Given the description of an element on the screen output the (x, y) to click on. 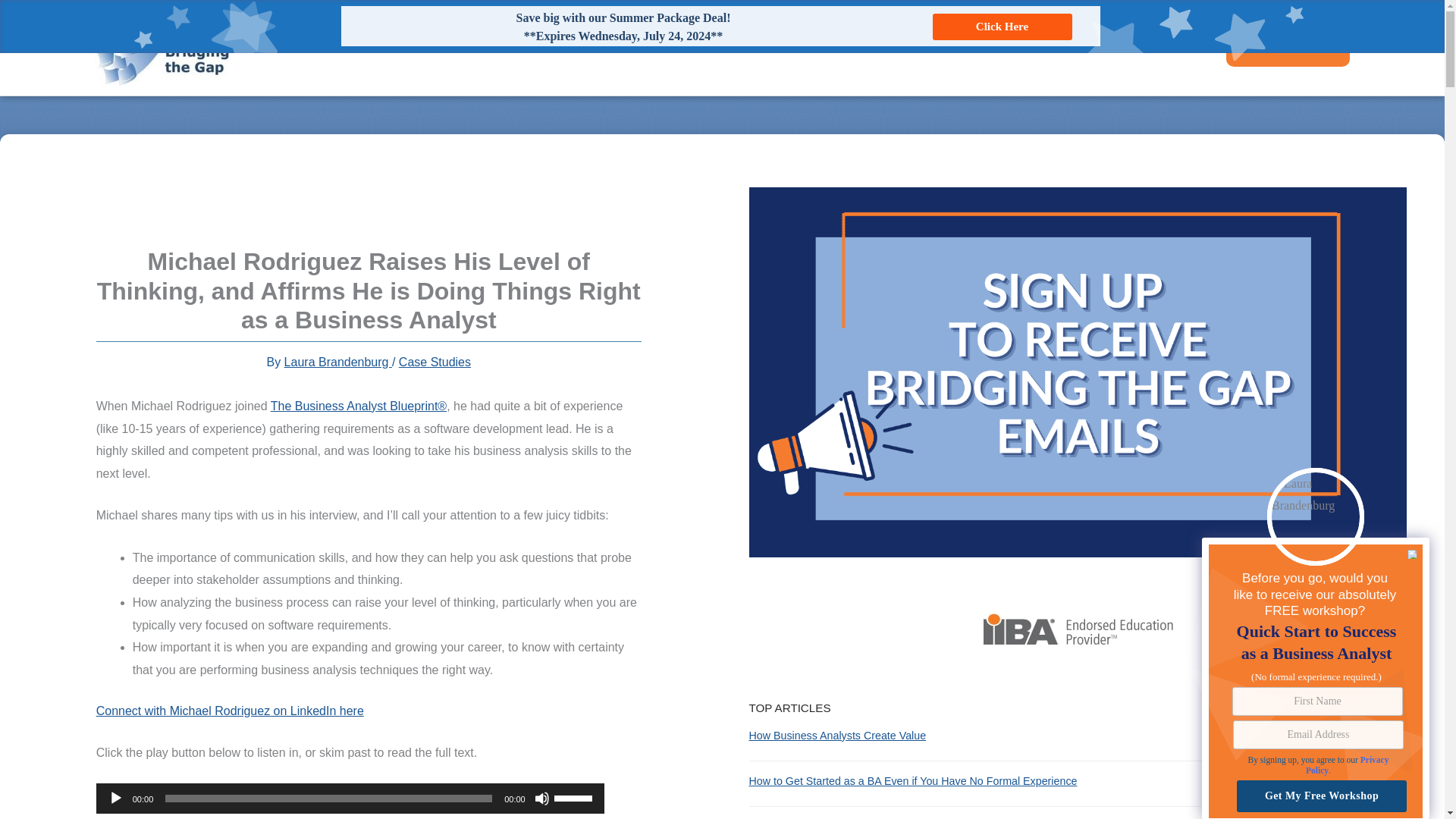
View all posts by Laura Brandenburg (337, 361)
GET THE BOOK (991, 47)
TAKE A COURSE (1287, 47)
Play (115, 798)
Laura Brandenburg (337, 361)
Connect with Michael Rodriguez on LinkedIn here (230, 710)
Case Studies (434, 361)
BLOG (1074, 47)
How Business Analysts Create Value (837, 735)
Mute (542, 798)
BA TEMPLATES (1156, 47)
FREE WORKSHOP (874, 47)
